Given the description of an element on the screen output the (x, y) to click on. 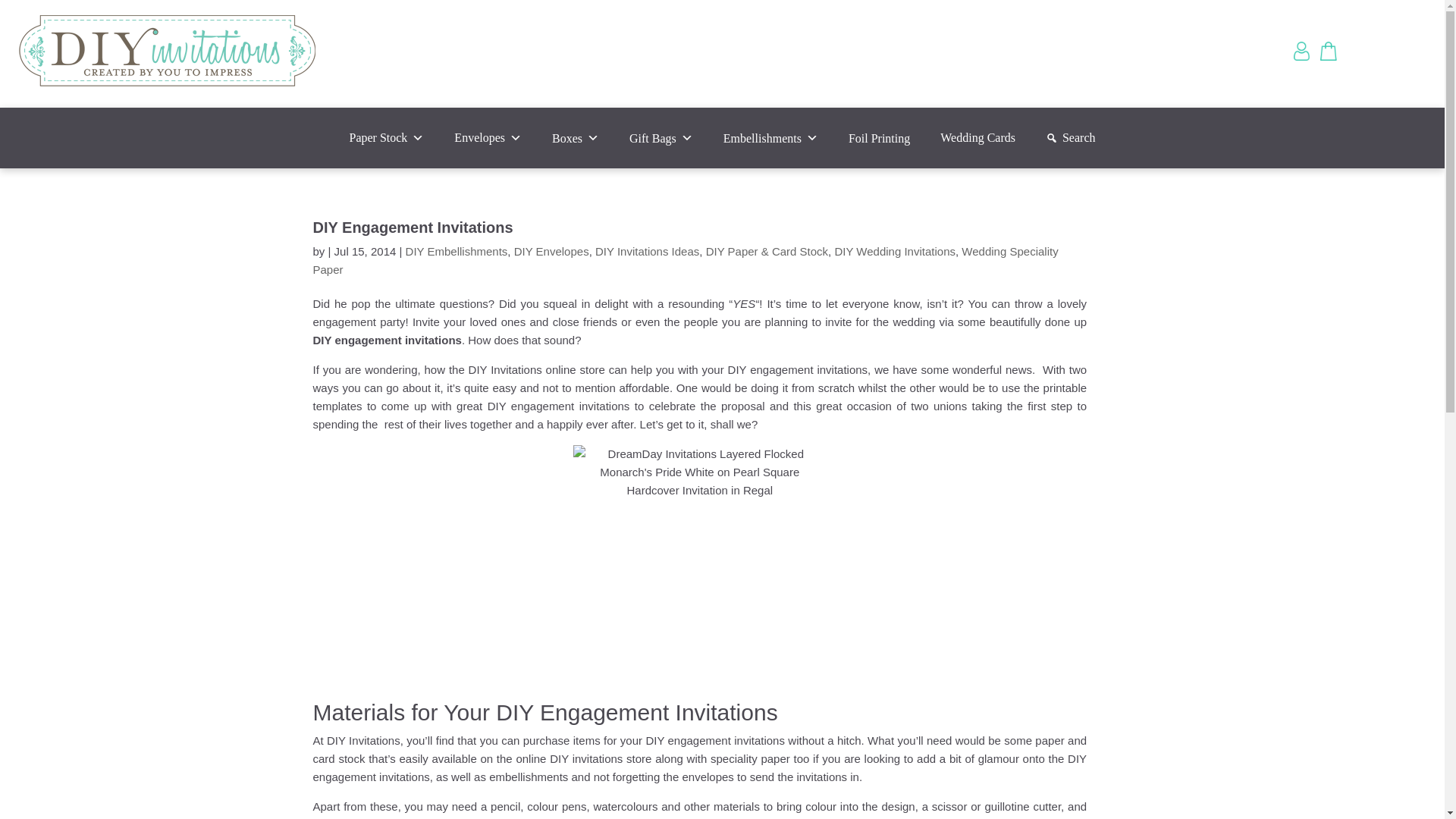
DIY-invitations-logo (167, 53)
Paper Stock (386, 137)
Envelopes (488, 137)
shopping-bag (1329, 50)
Boxes (575, 137)
